Given the description of an element on the screen output the (x, y) to click on. 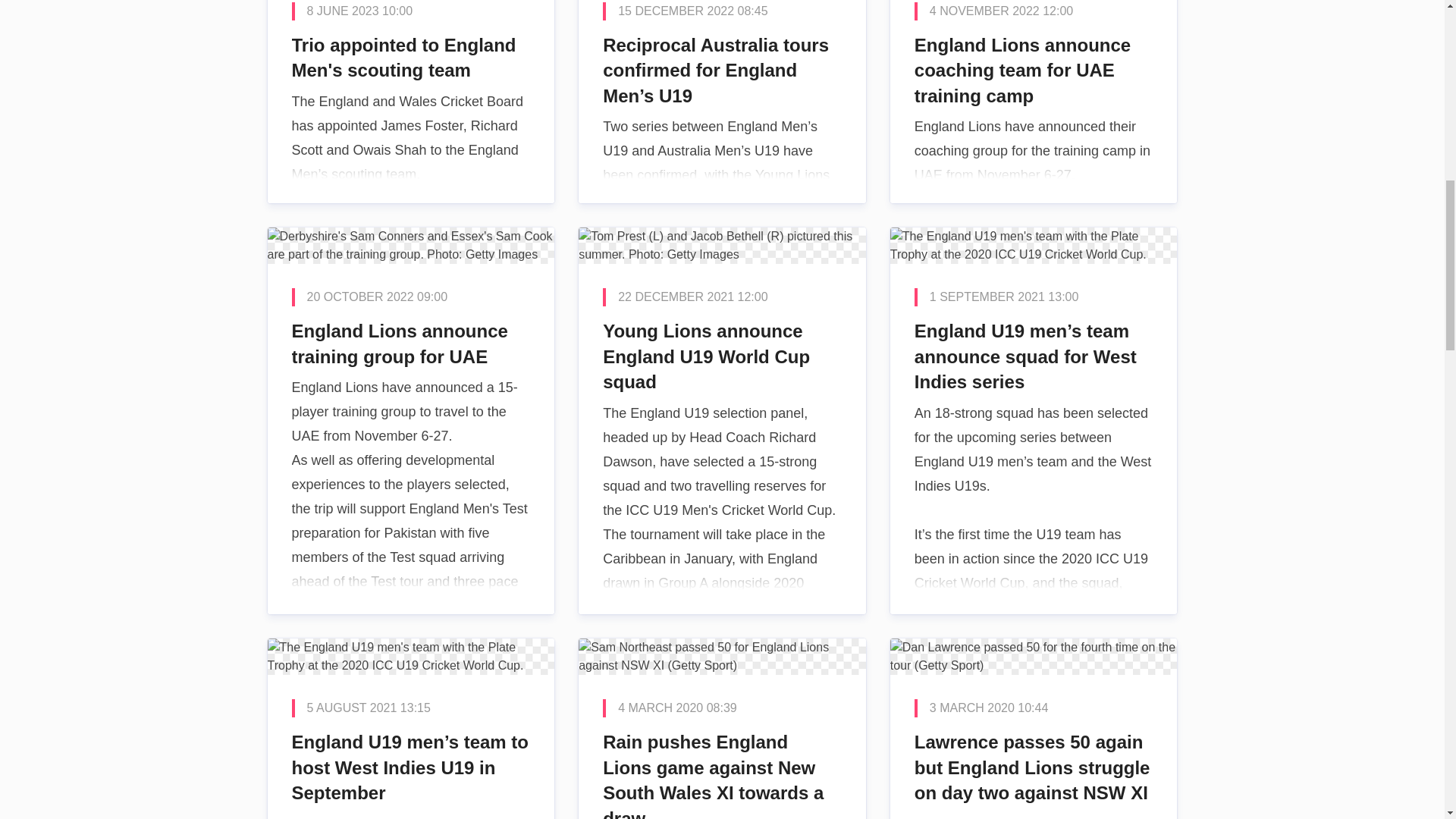
England Lions announce coaching team for UAE training camp (1033, 101)
Trio appointed to England Men's scouting team (410, 101)
